Given the description of an element on the screen output the (x, y) to click on. 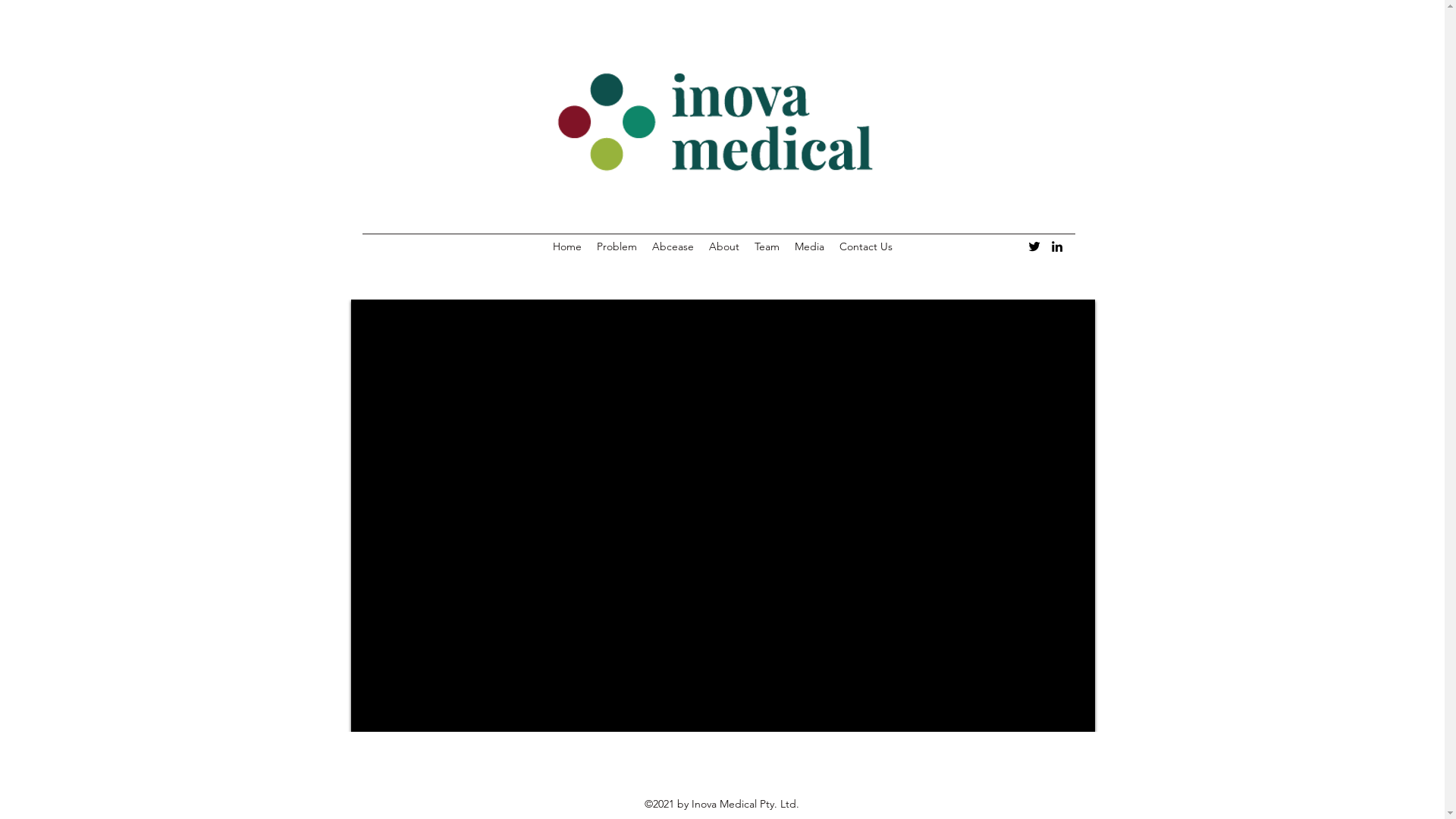
Abcease Element type: text (672, 246)
Team Element type: text (766, 246)
Contact Us Element type: text (865, 246)
About Element type: text (723, 246)
Home Element type: text (566, 246)
Media Element type: text (809, 246)
Inova Medical Element type: hover (718, 121)
Problem Element type: text (615, 246)
External YouTube Element type: hover (722, 515)
